Given the description of an element on the screen output the (x, y) to click on. 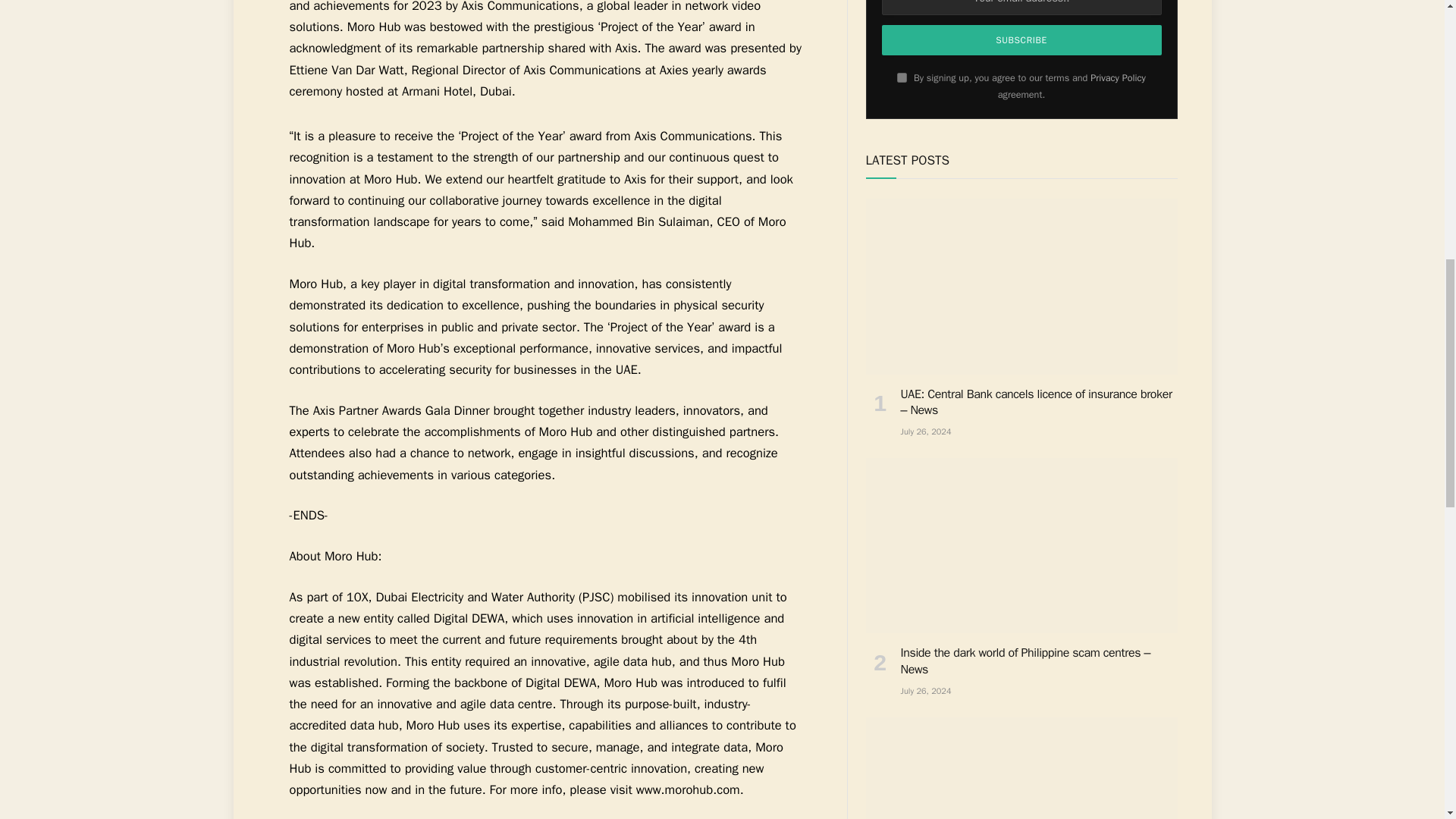
Subscribe (1021, 40)
on (901, 77)
